Given the description of an element on the screen output the (x, y) to click on. 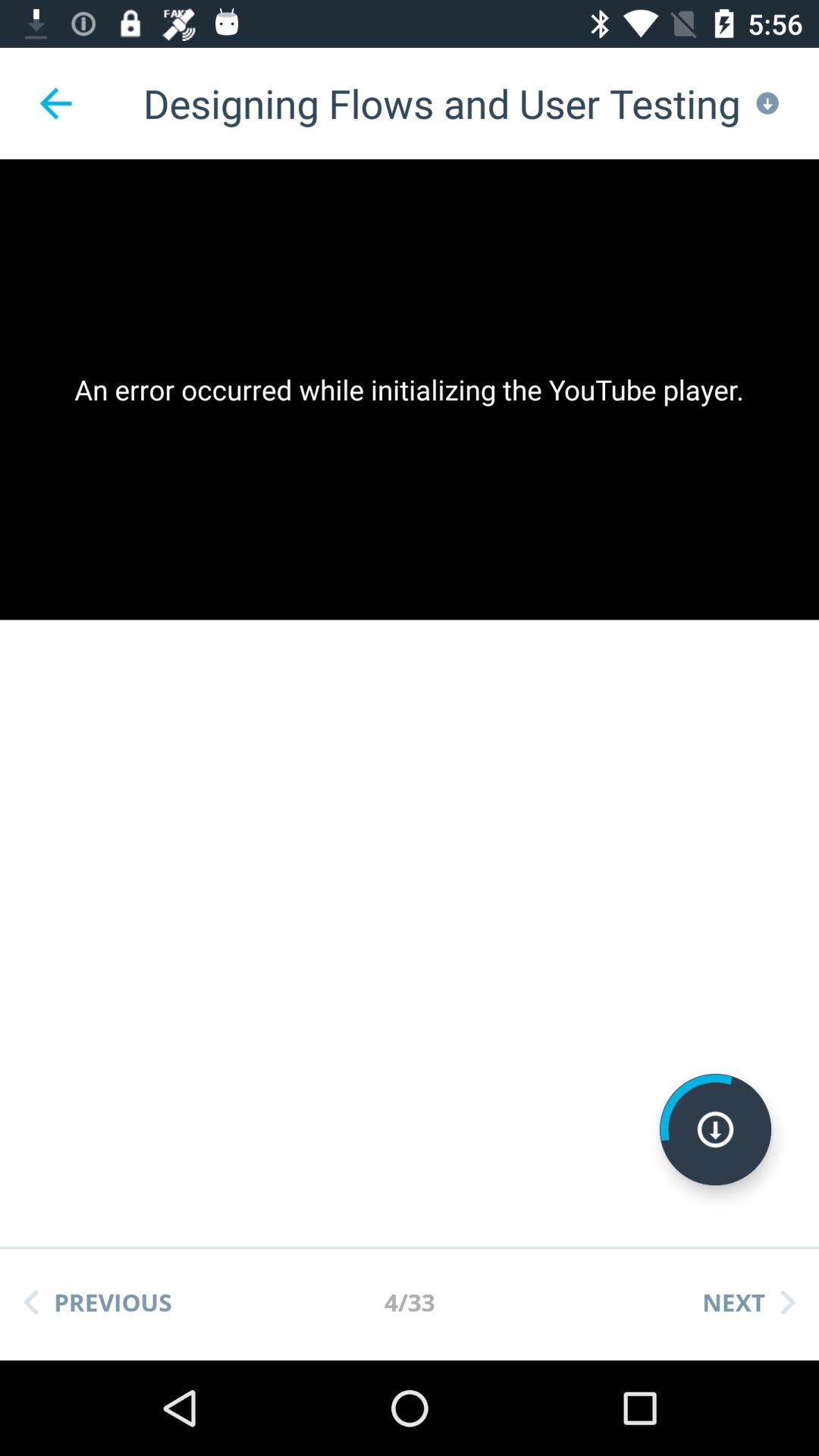
turn on item to the left of designing flows and (55, 103)
